Given the description of an element on the screen output the (x, y) to click on. 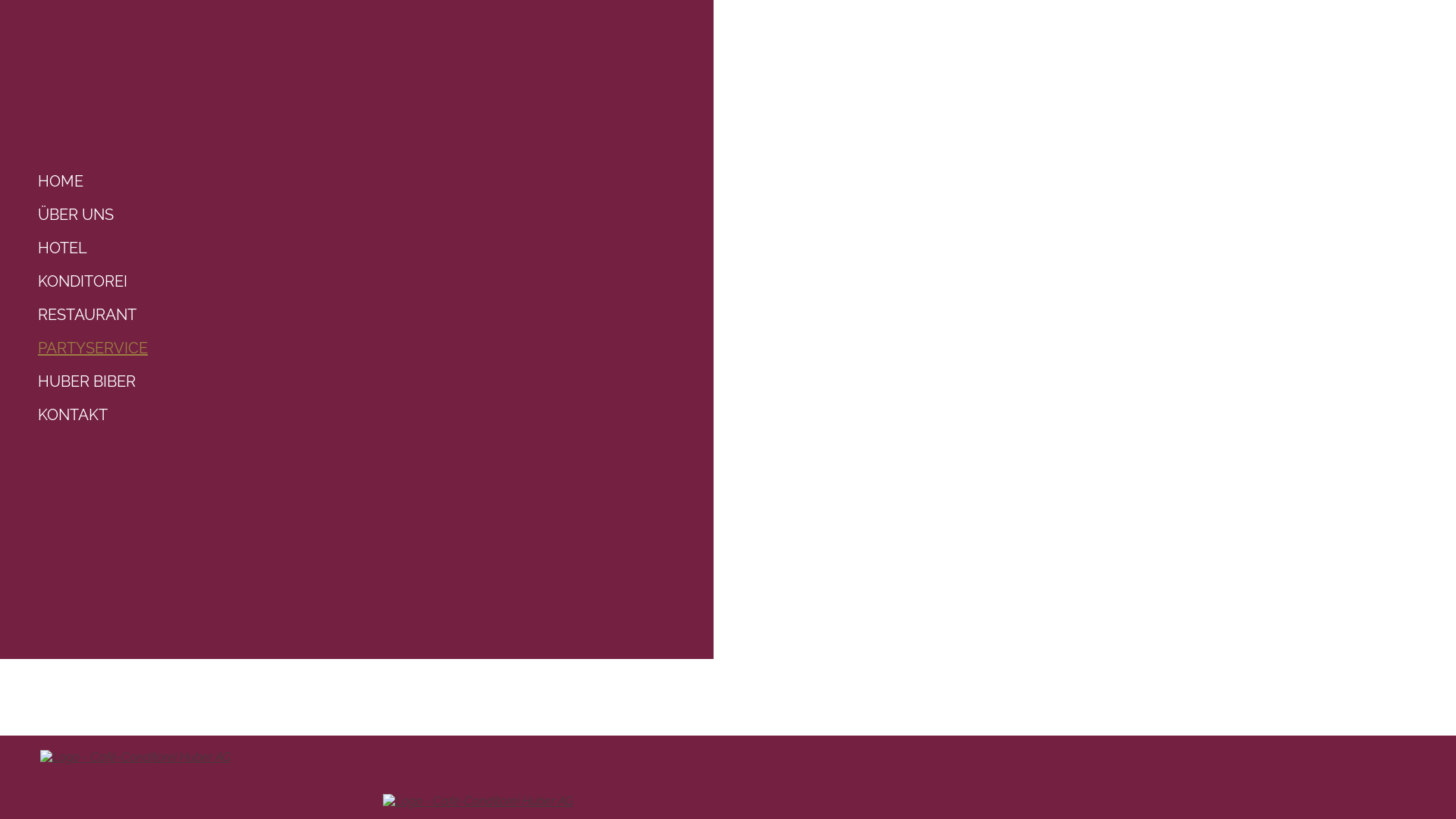
HOTEL Element type: text (386, 247)
HOME Element type: text (386, 180)
PARTYSERVICE Element type: text (386, 347)
KONDITOREI Element type: text (386, 281)
RESTAURANT Element type: text (386, 314)
HUBER BIBER Element type: text (386, 381)
KONTAKT Element type: text (386, 414)
